Given the description of an element on the screen output the (x, y) to click on. 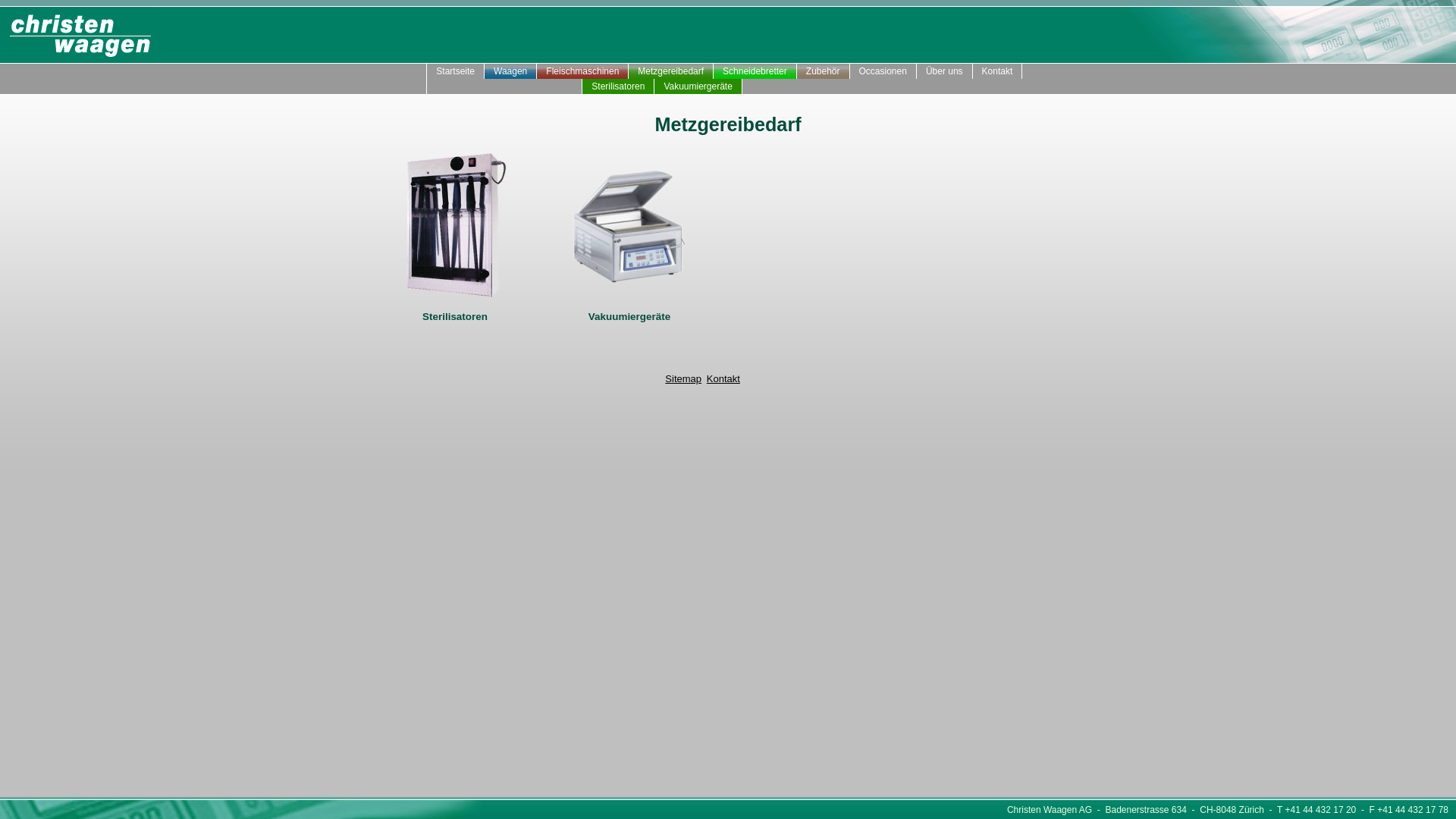
  Element type: text (415, 86)
Kontakt Element type: text (997, 70)
Sterilisatoren Element type: text (618, 86)
Sitemap Element type: text (683, 378)
Waagen Element type: text (510, 70)
Kontakt Element type: text (723, 378)
Startseite Element type: text (455, 70)
Schneidebretter Element type: text (755, 70)
Metzgereibedarf Element type: text (670, 70)
  Element type: text (415, 70)
  -  T +41 44 432 17 20  -  F +41 44 432 17 78 Element type: text (1356, 809)
Occasionen Element type: text (882, 70)
Fleischmaschinen Element type: text (582, 70)
